Given the description of an element on the screen output the (x, y) to click on. 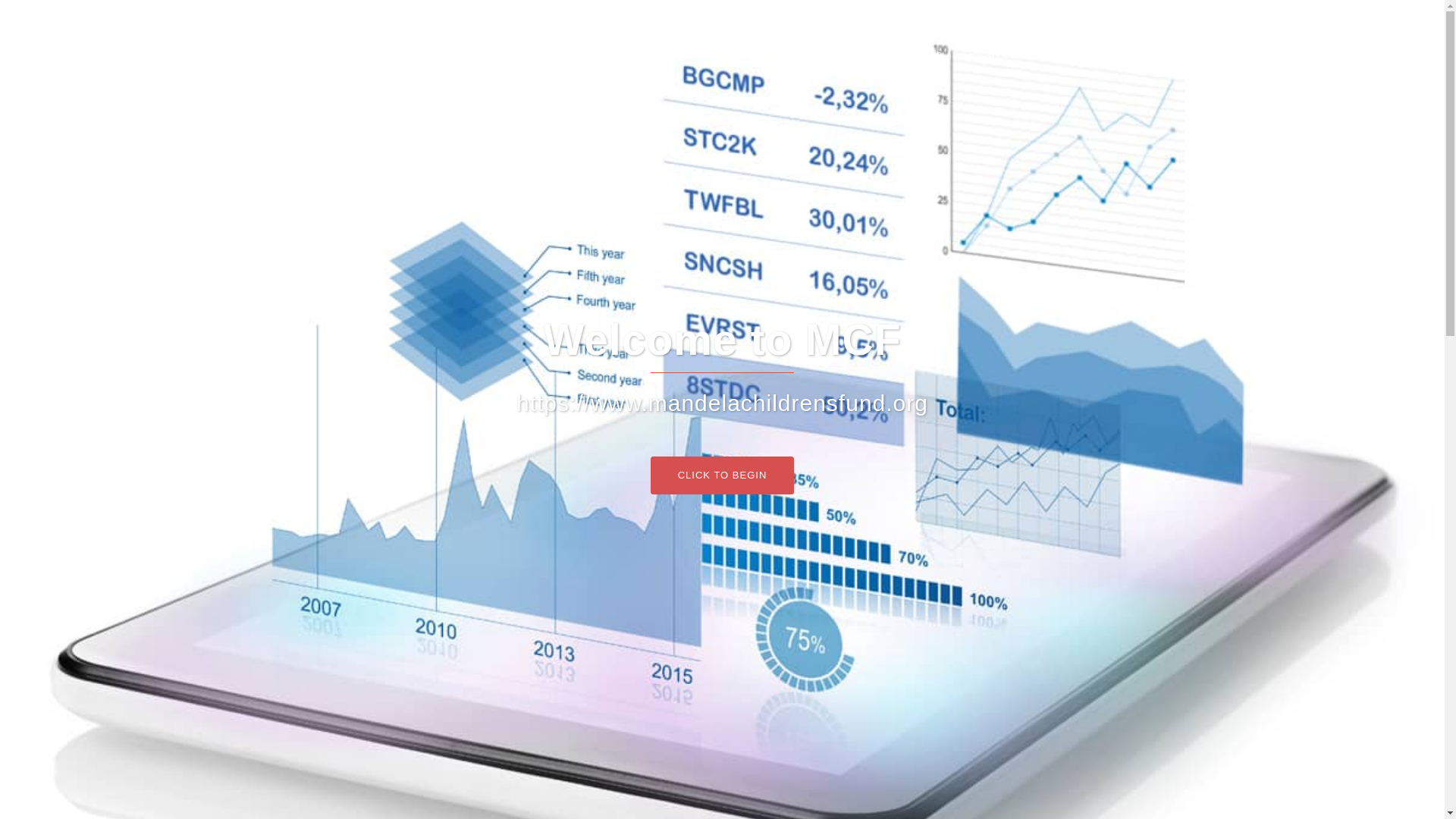
Financing (930, 36)
Contact Us (988, 54)
MCF (499, 29)
Accounting (800, 36)
General Article (907, 54)
Market News (1005, 36)
CLICK TO BEGIN (722, 475)
Finance (867, 36)
Search (47, 18)
Stockcharts (1085, 36)
